Given the description of an element on the screen output the (x, y) to click on. 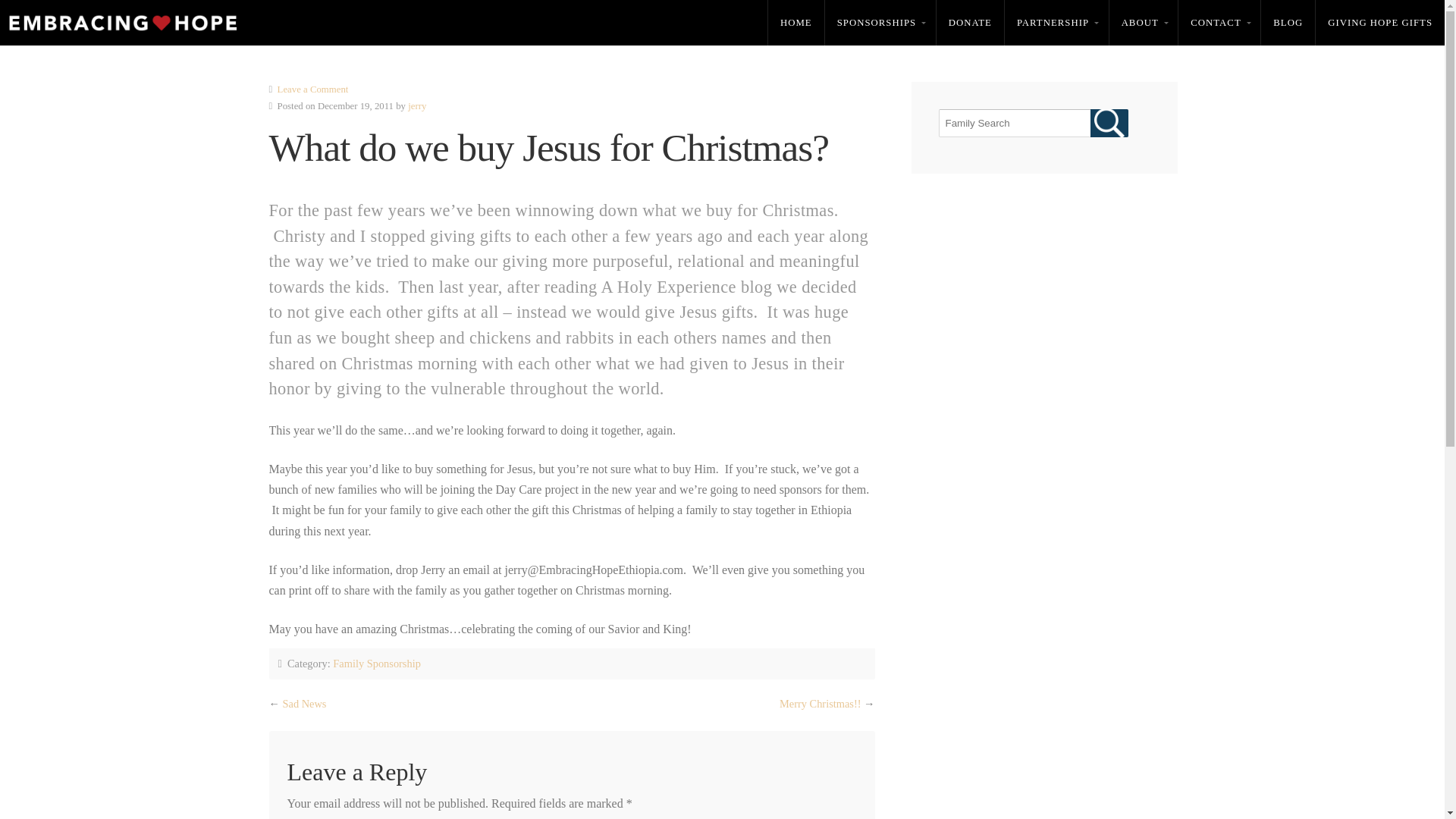
Posts by jerry (416, 105)
HOME (796, 22)
Family Sponsorship (376, 663)
PARTNERSHIP (1056, 22)
CONTACT (1218, 22)
Sad News (304, 703)
Leave a Comment (313, 89)
Merry Christmas!! (819, 703)
SPONSORSHIPS (880, 22)
DONATE (970, 22)
BLOG (1287, 22)
ABOUT (1143, 22)
jerry (416, 105)
Leave a Comment (313, 89)
